Given the description of an element on the screen output the (x, y) to click on. 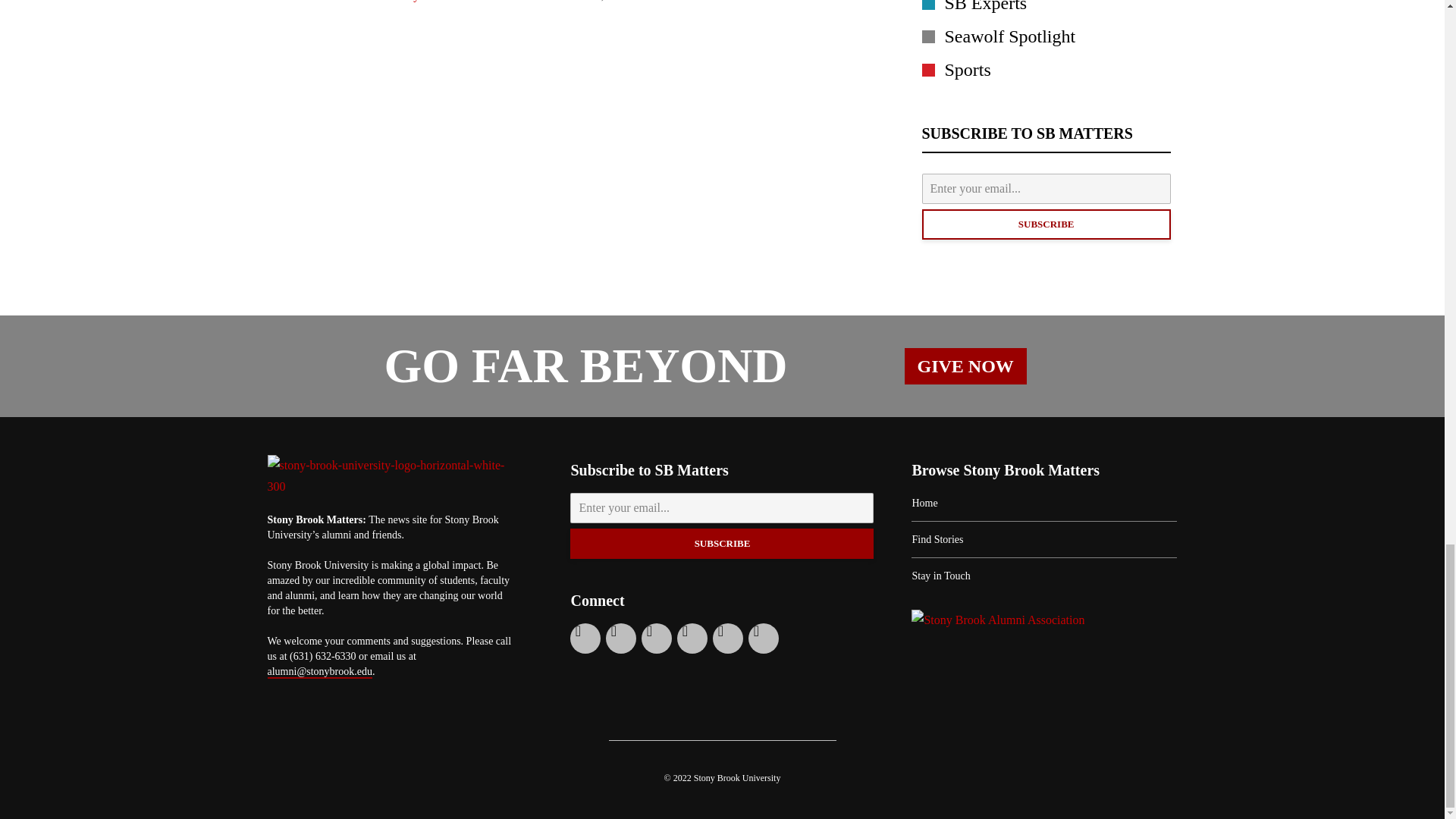
stony-brook-university-logo-horizontal-white-300 (389, 476)
